Given the description of an element on the screen output the (x, y) to click on. 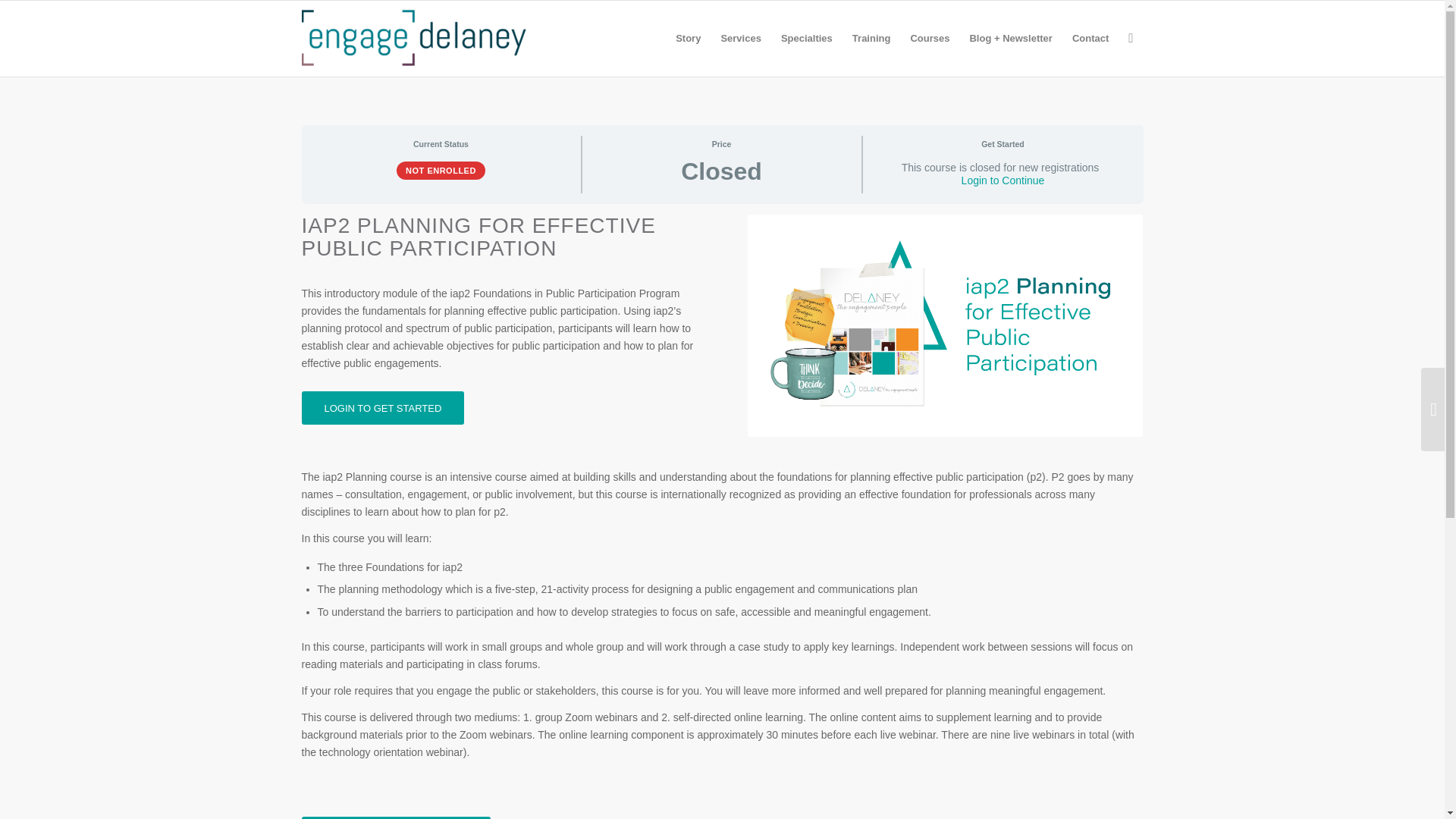
engage-delaney-logo (414, 38)
Specialties (807, 38)
iap2 Planning Thumbnail (945, 325)
